Given the description of an element on the screen output the (x, y) to click on. 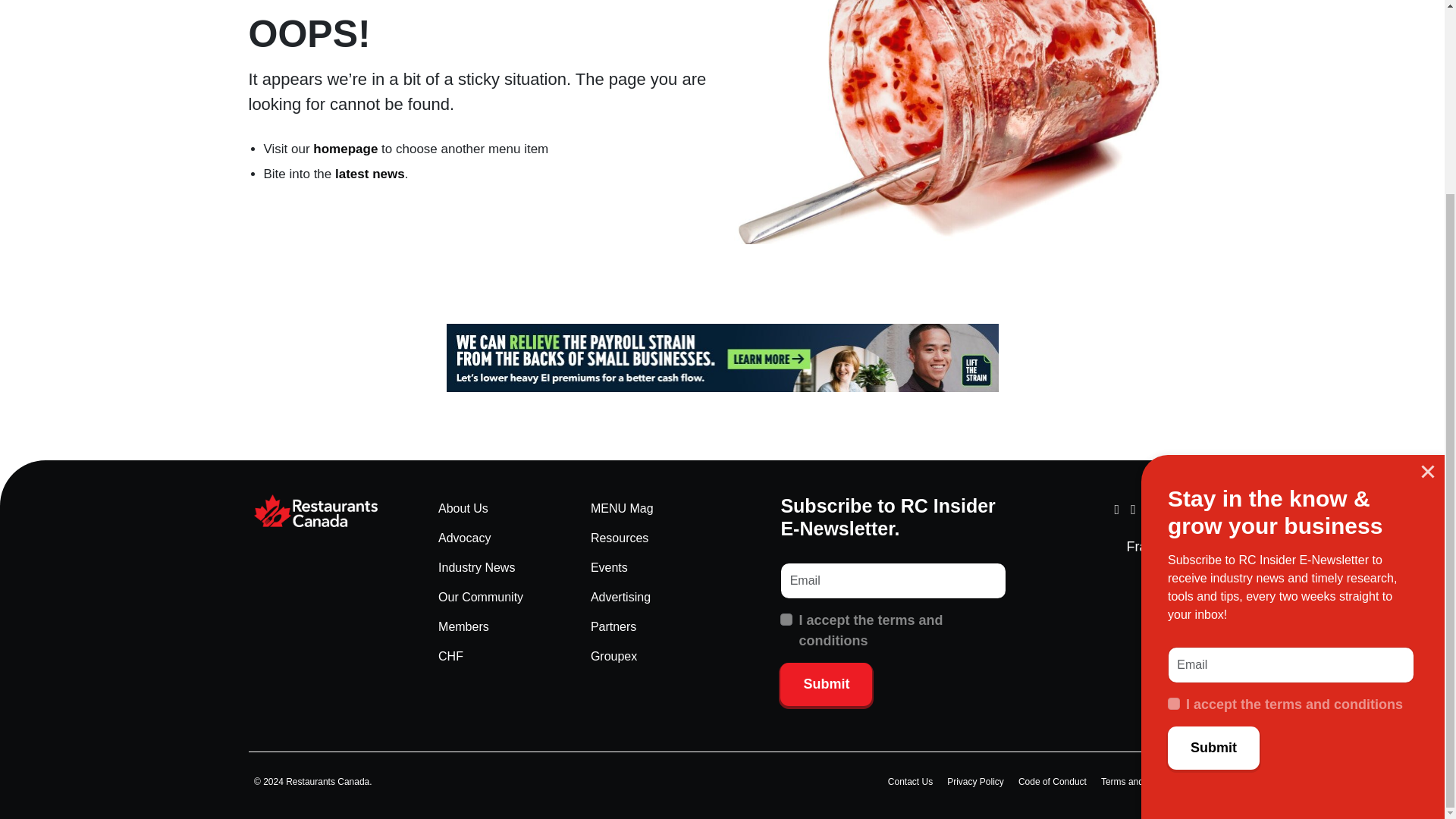
Submit (1213, 503)
1 (786, 619)
1 (1173, 459)
Submit (826, 683)
Restaurants Canada (326, 510)
